Given the description of an element on the screen output the (x, y) to click on. 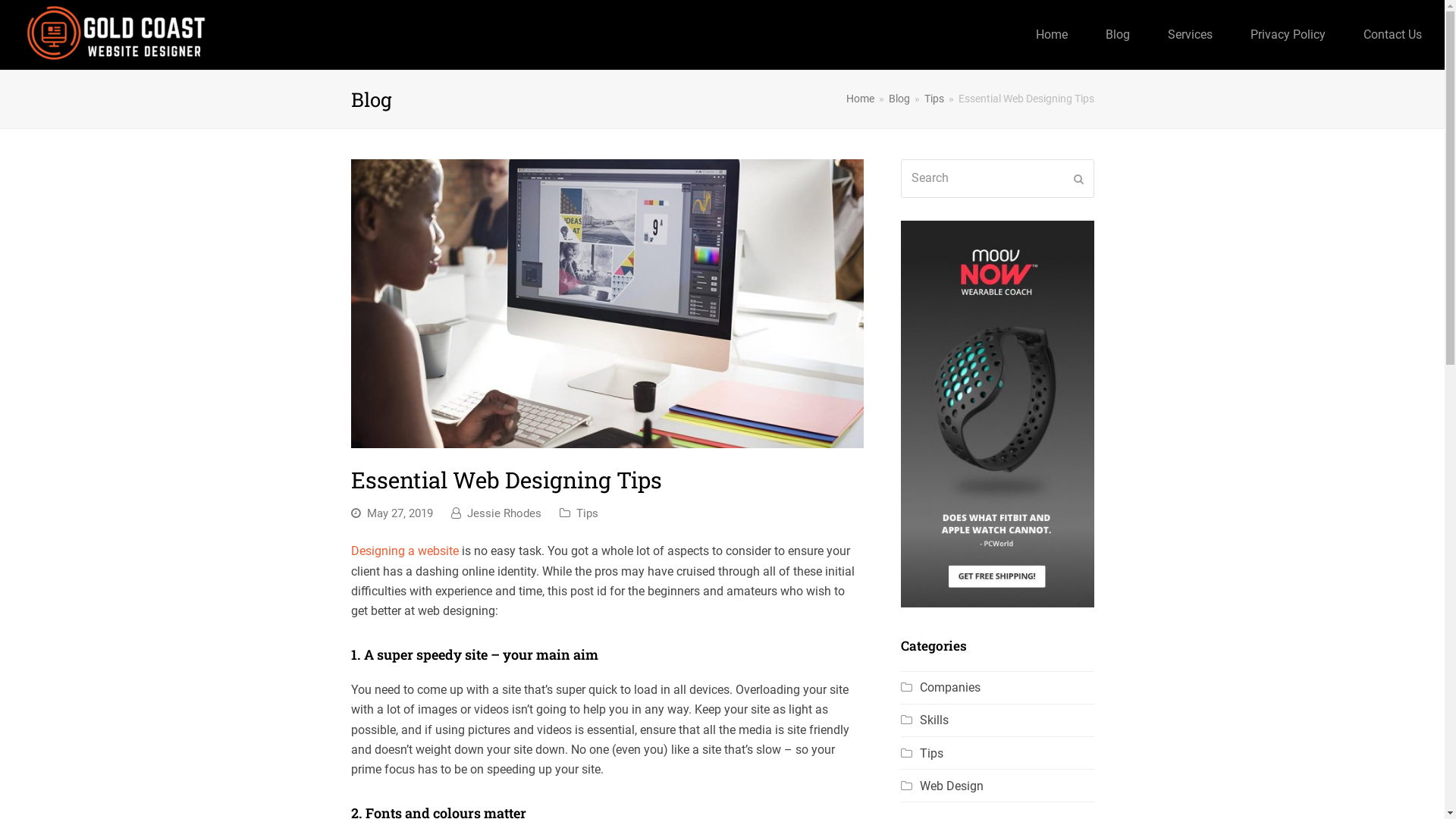
Home Element type: text (860, 98)
Blog Element type: text (1117, 34)
Blog Element type: text (899, 98)
Skills Element type: text (924, 719)
Services Element type: text (1189, 34)
Designing a website Element type: text (404, 550)
Tips Element type: text (921, 753)
Tips Element type: text (587, 513)
Jessie Rhodes Element type: text (504, 513)
Web Design Element type: text (941, 785)
Home Element type: text (1051, 34)
Companies Element type: text (940, 687)
Privacy Policy Element type: text (1287, 34)
Tips Element type: text (933, 98)
Contact Us Element type: text (1392, 34)
Submit Element type: text (1078, 178)
